Given the description of an element on the screen output the (x, y) to click on. 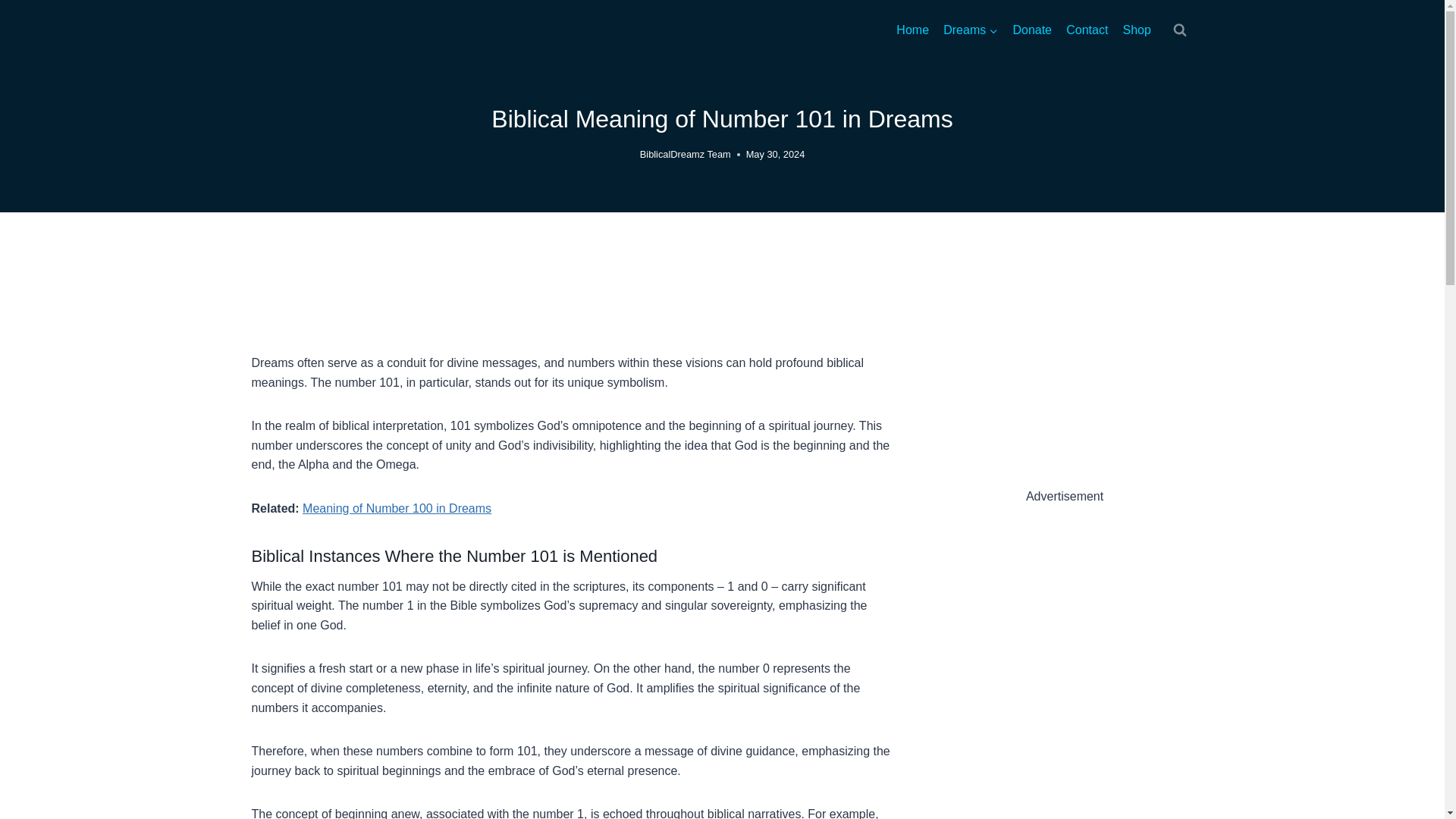
Meaning of Number 100 in Dreams (397, 508)
Dreams (971, 30)
Donate (1032, 30)
Contact (1087, 30)
Home (912, 30)
Shop (1136, 30)
